Given the description of an element on the screen output the (x, y) to click on. 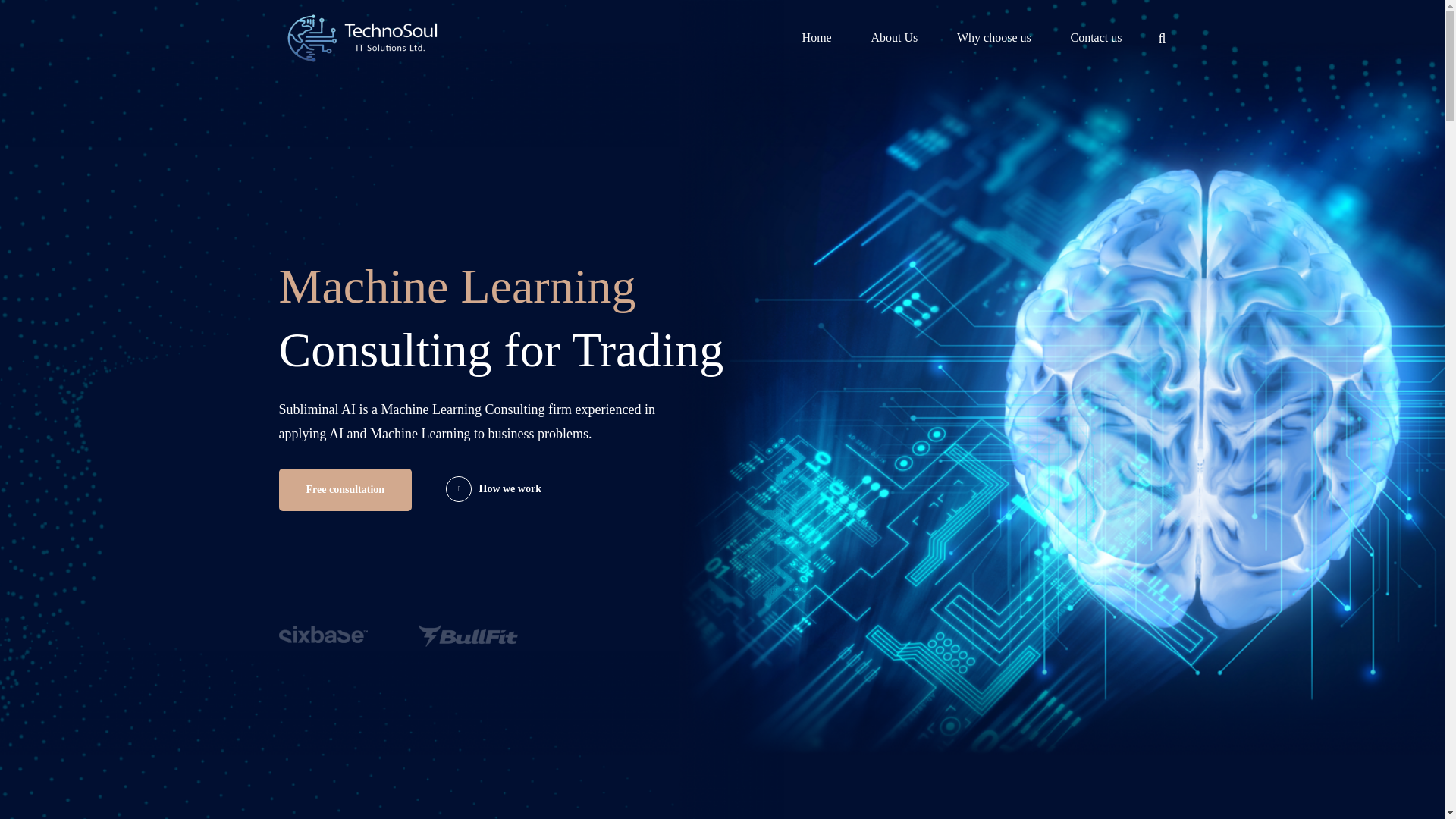
Why choose us (994, 37)
About Us (893, 37)
Contact us (1095, 37)
Home (817, 37)
How we work (493, 502)
Free consultation (345, 507)
